Given the description of an element on the screen output the (x, y) to click on. 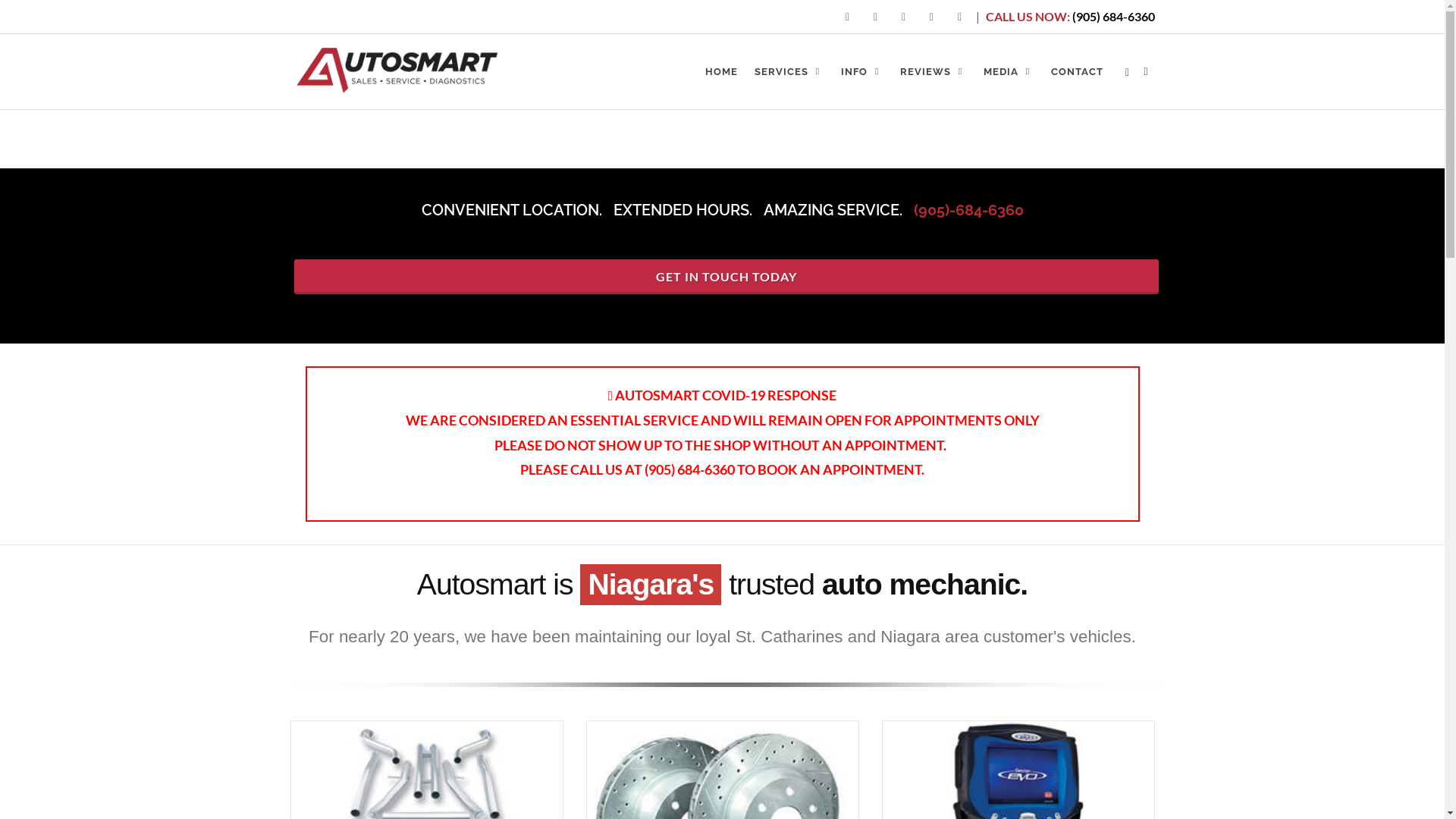
MEDIA Element type: text (1008, 71)
CONTACT Element type: text (1076, 71)
GET IN TOUCH TODAY Element type: text (726, 276)
HOME Element type: text (721, 71)
Autosmart Niagara Element type: hover (397, 68)
Login Element type: hover (1127, 72)
REVIEWS Element type: text (932, 71)
INFO Element type: text (861, 71)
CALL US NOW: (905) 684-6360 Element type: text (1067, 16)
SERVICES Element type: text (788, 71)
